Given the description of an element on the screen output the (x, y) to click on. 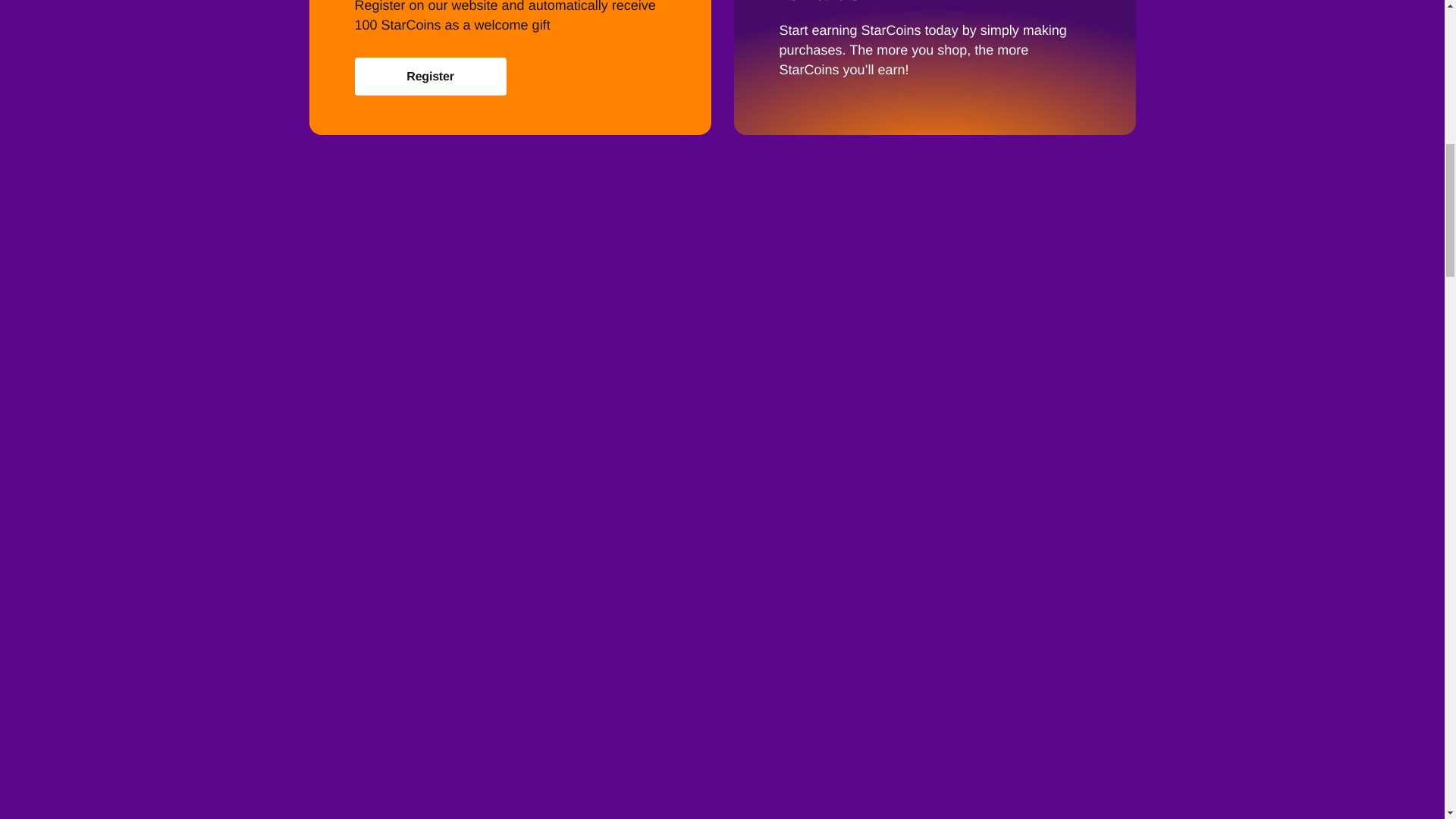
Register (430, 89)
